Given the description of an element on the screen output the (x, y) to click on. 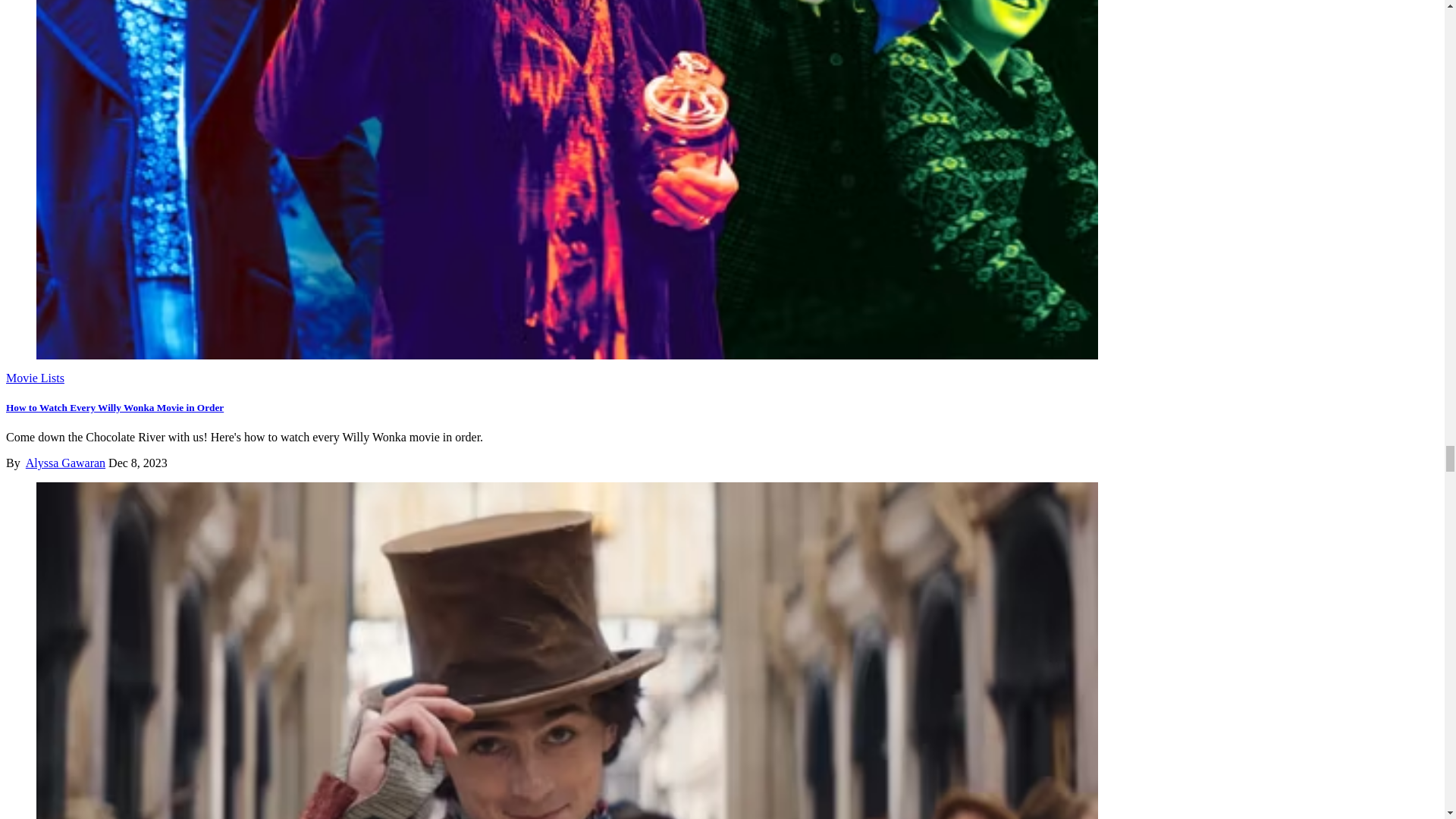
Posts by Alyssa Gawaran (65, 462)
